Given the description of an element on the screen output the (x, y) to click on. 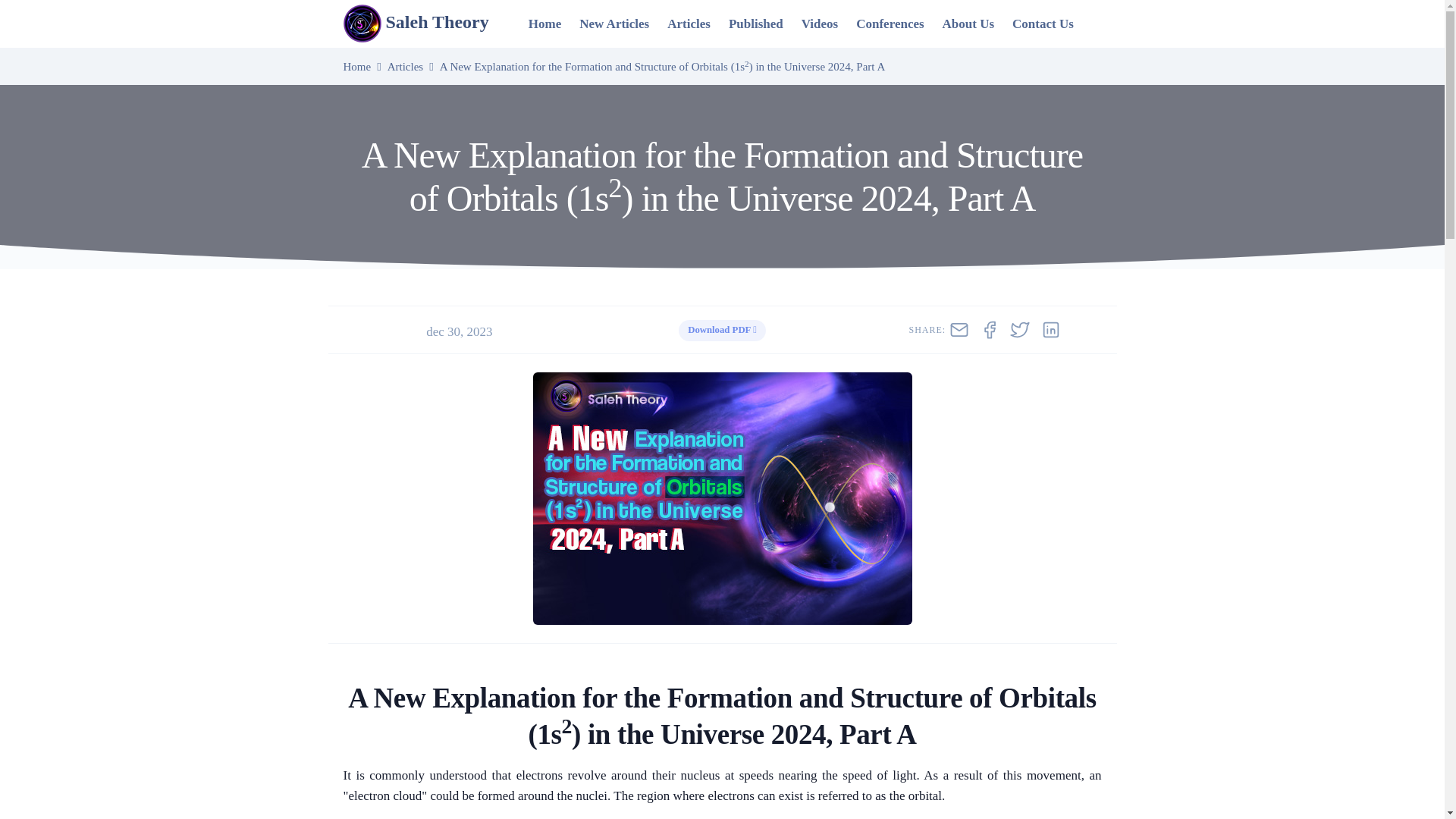
Download PDF (721, 328)
Published (755, 23)
Contact Us (1043, 23)
Articles (688, 23)
About Us (968, 23)
Articles (405, 66)
New Articles (614, 23)
Videos (819, 23)
Saleh Theory (430, 24)
Home (356, 66)
Conferences (890, 23)
Home (544, 23)
